Given the description of an element on the screen output the (x, y) to click on. 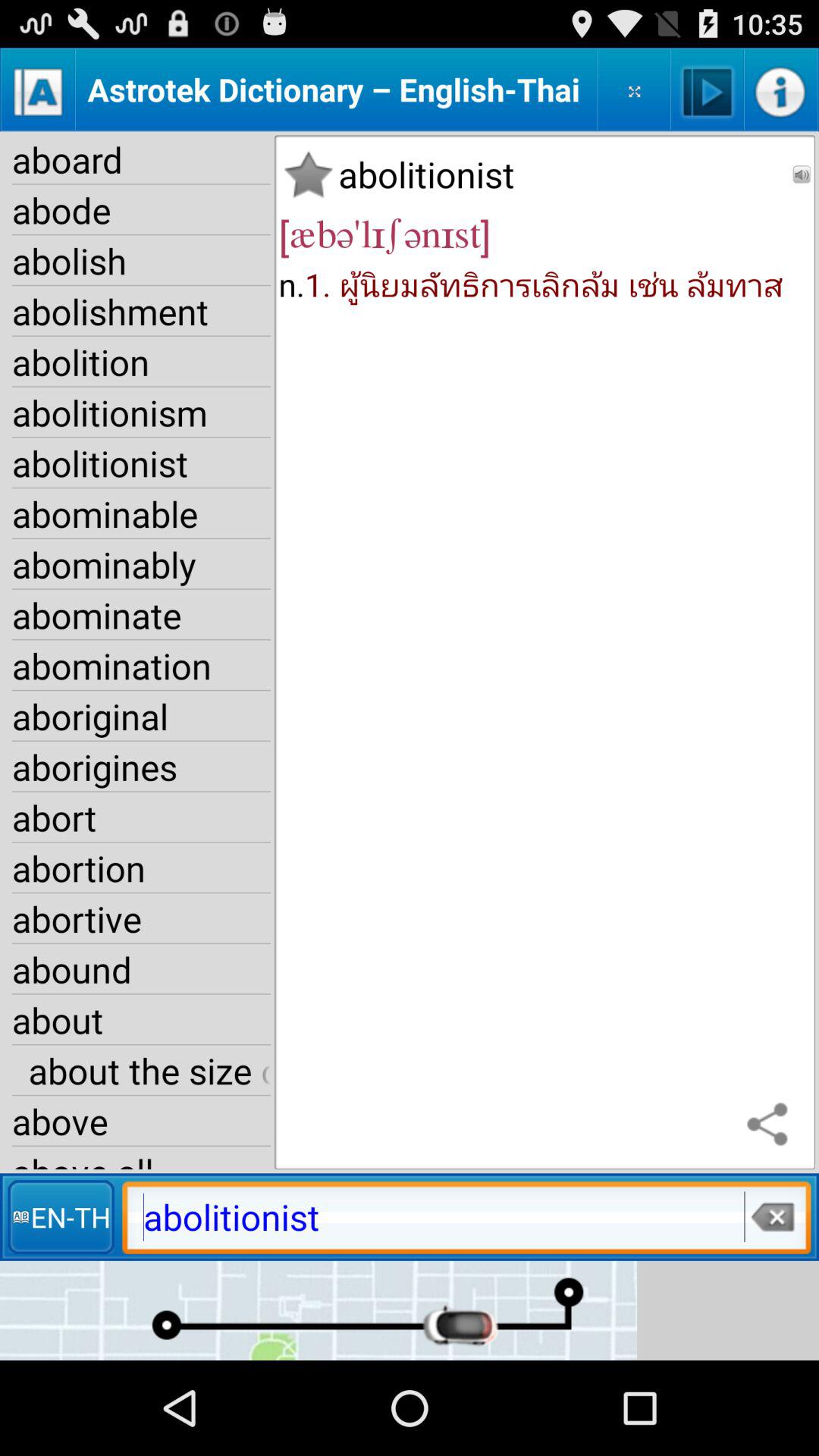
turn on the icon to the right of the about the size (771, 1125)
